Given the description of an element on the screen output the (x, y) to click on. 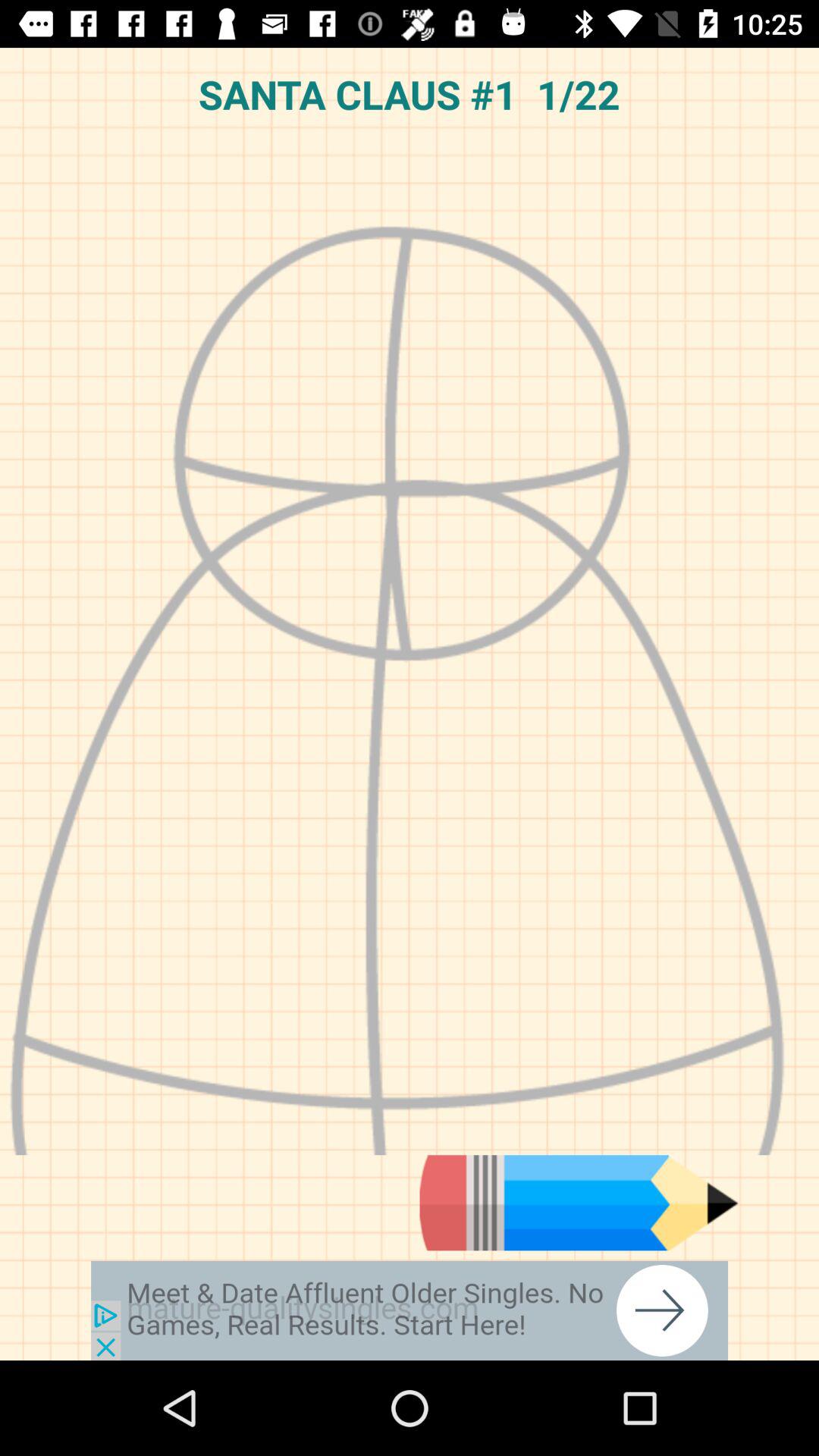
select tool (578, 1202)
